Given the description of an element on the screen output the (x, y) to click on. 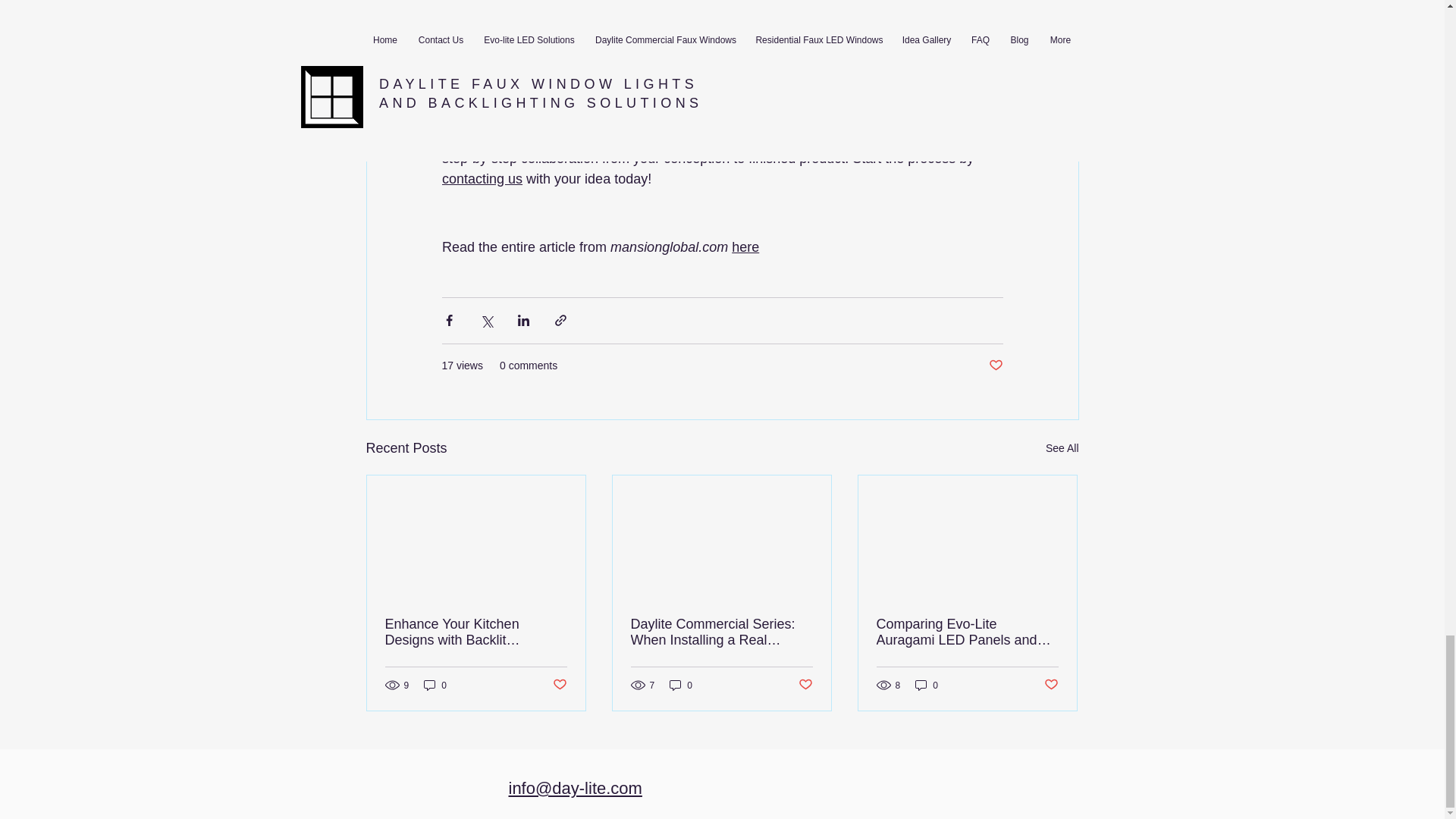
here (745, 246)
Enhance Your Kitchen Designs with Backlit Countertops (476, 632)
Post not marked as liked (558, 684)
Post not marked as liked (1050, 684)
Daylite Windows (491, 96)
0 (926, 685)
0 (435, 685)
See All (1061, 448)
Post not marked as liked (804, 684)
